Given the description of an element on the screen output the (x, y) to click on. 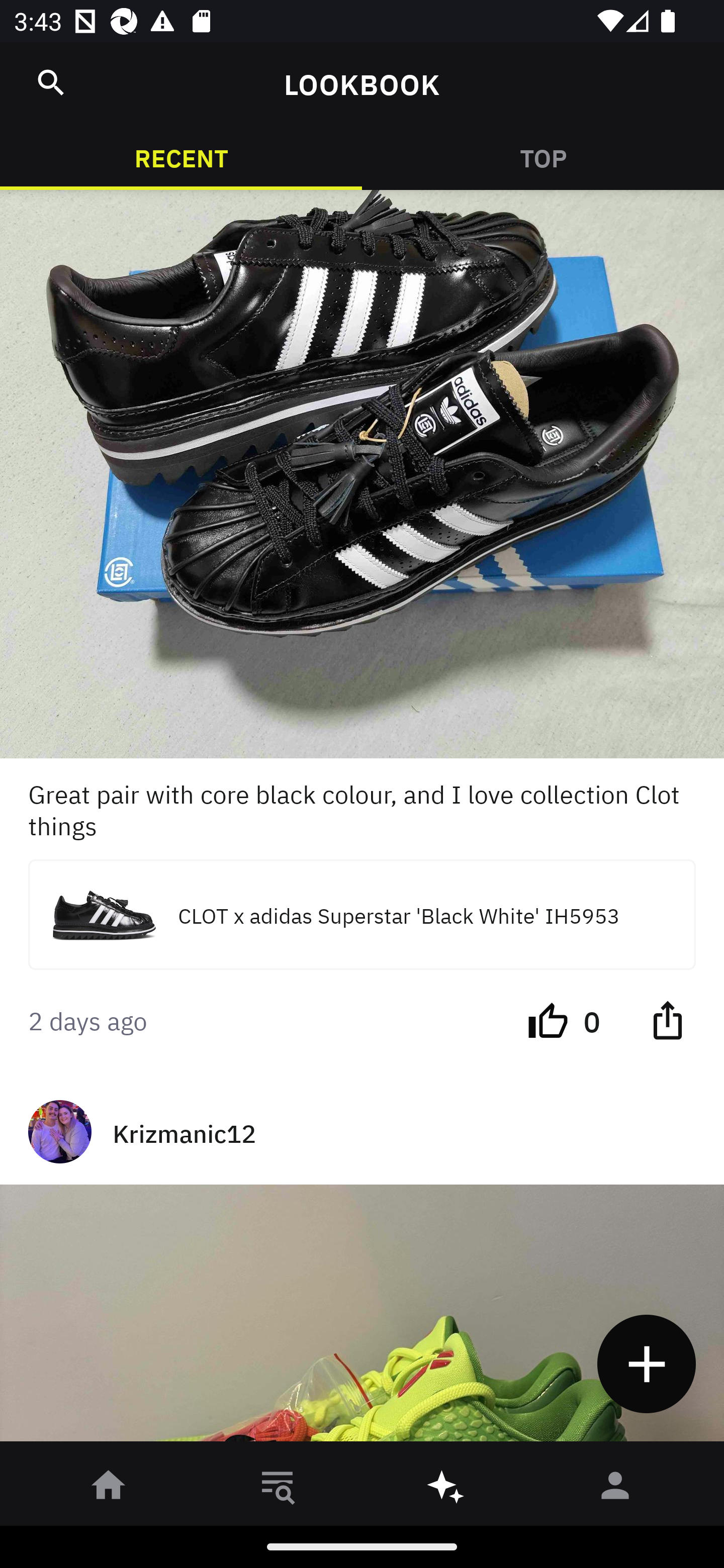
 (51, 82)
RECENT (181, 156)
TOP (543, 156)
CLOT x adidas Superstar 'Black White' IH5953 (362, 914)
󰔔 (547, 1018)
 (667, 1018)
󰋜 (108, 1488)
󱎸 (277, 1488)
󰫢 (446, 1488)
󰀄 (615, 1488)
